Given the description of an element on the screen output the (x, y) to click on. 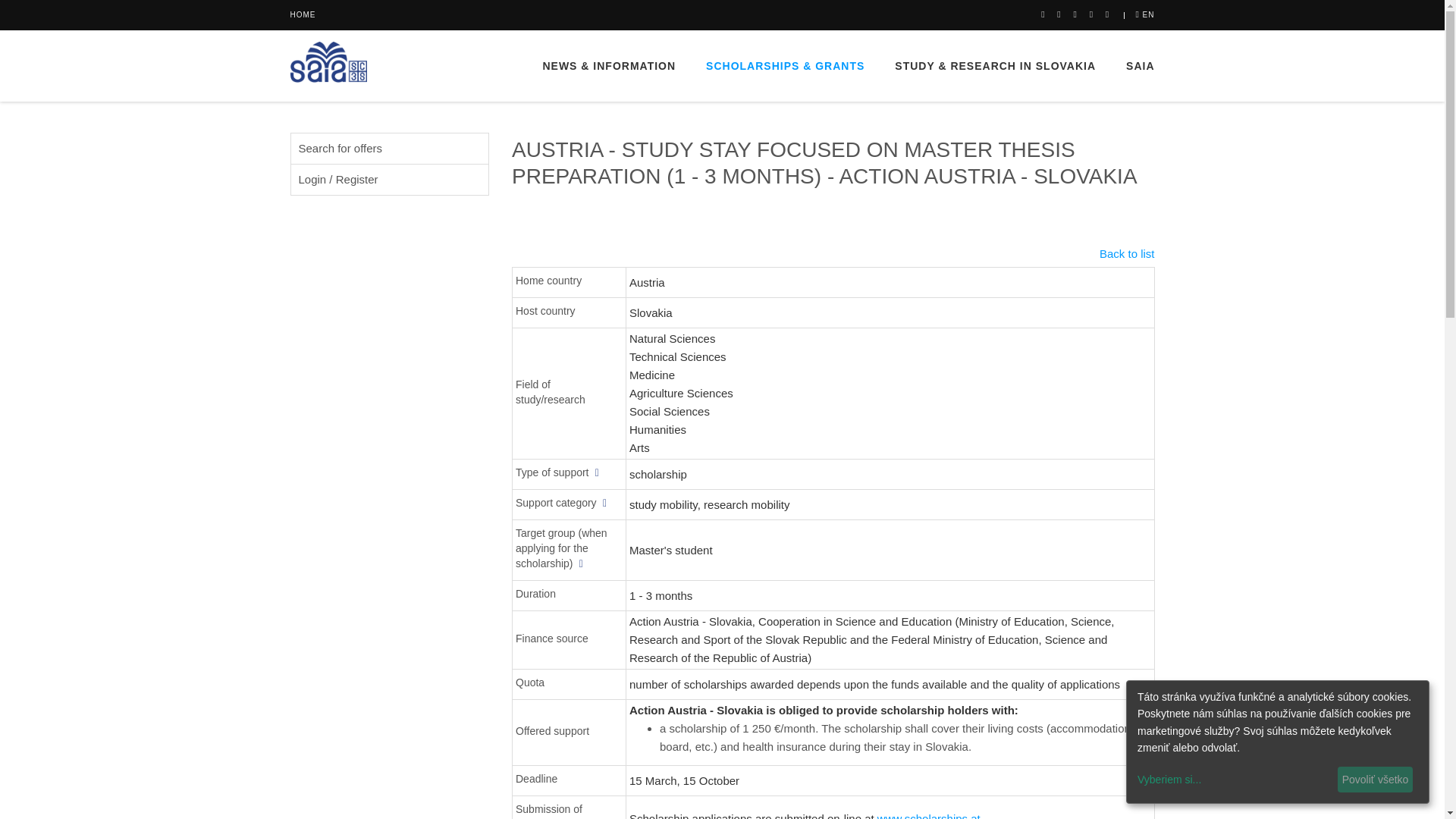
HOME (302, 14)
www.scholarships.at (928, 815)
Search for offers (390, 148)
Back to list (833, 253)
EN (1144, 14)
